Given the description of an element on the screen output the (x, y) to click on. 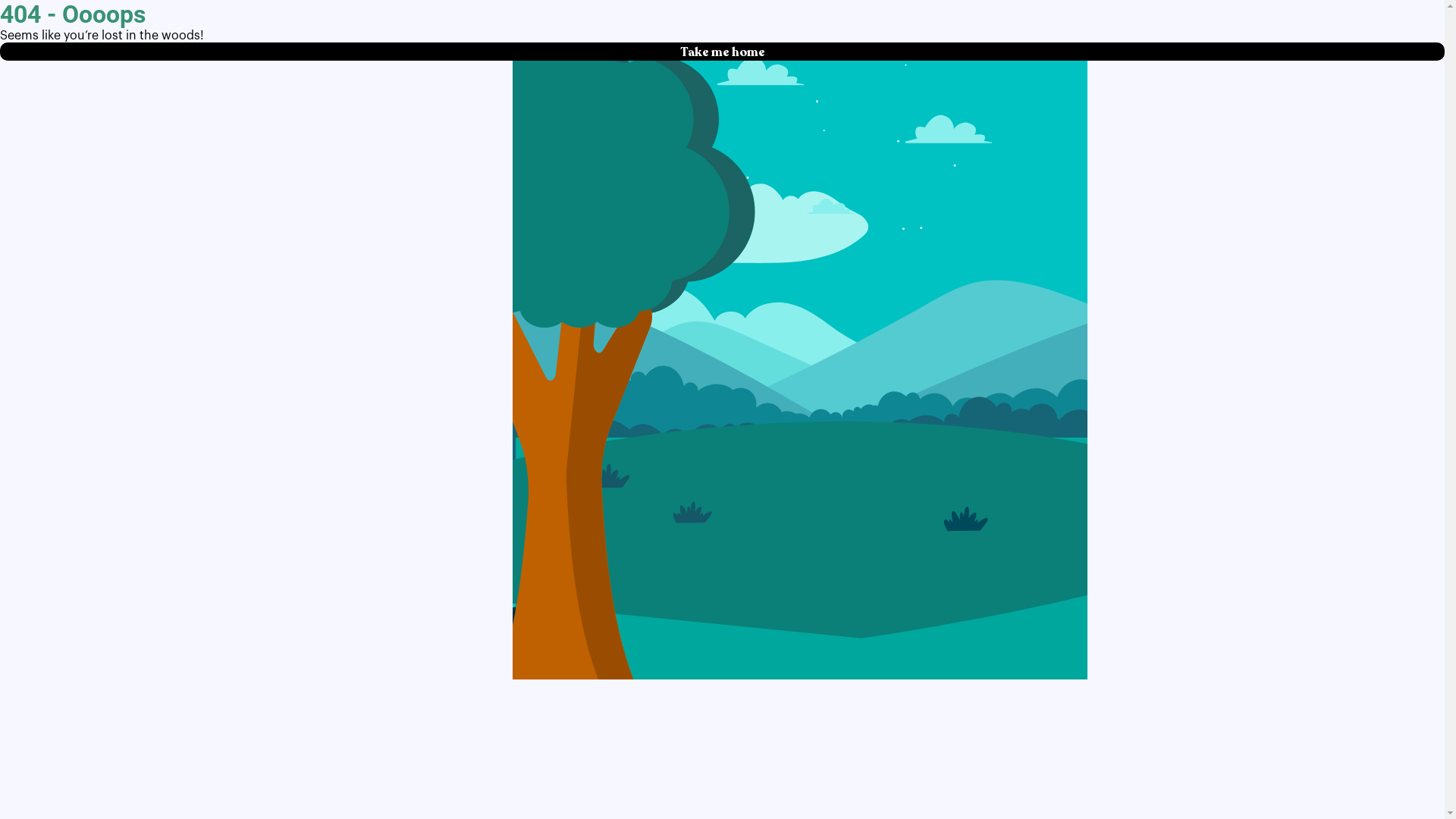
Take me home Element type: text (722, 51)
